Given the description of an element on the screen output the (x, y) to click on. 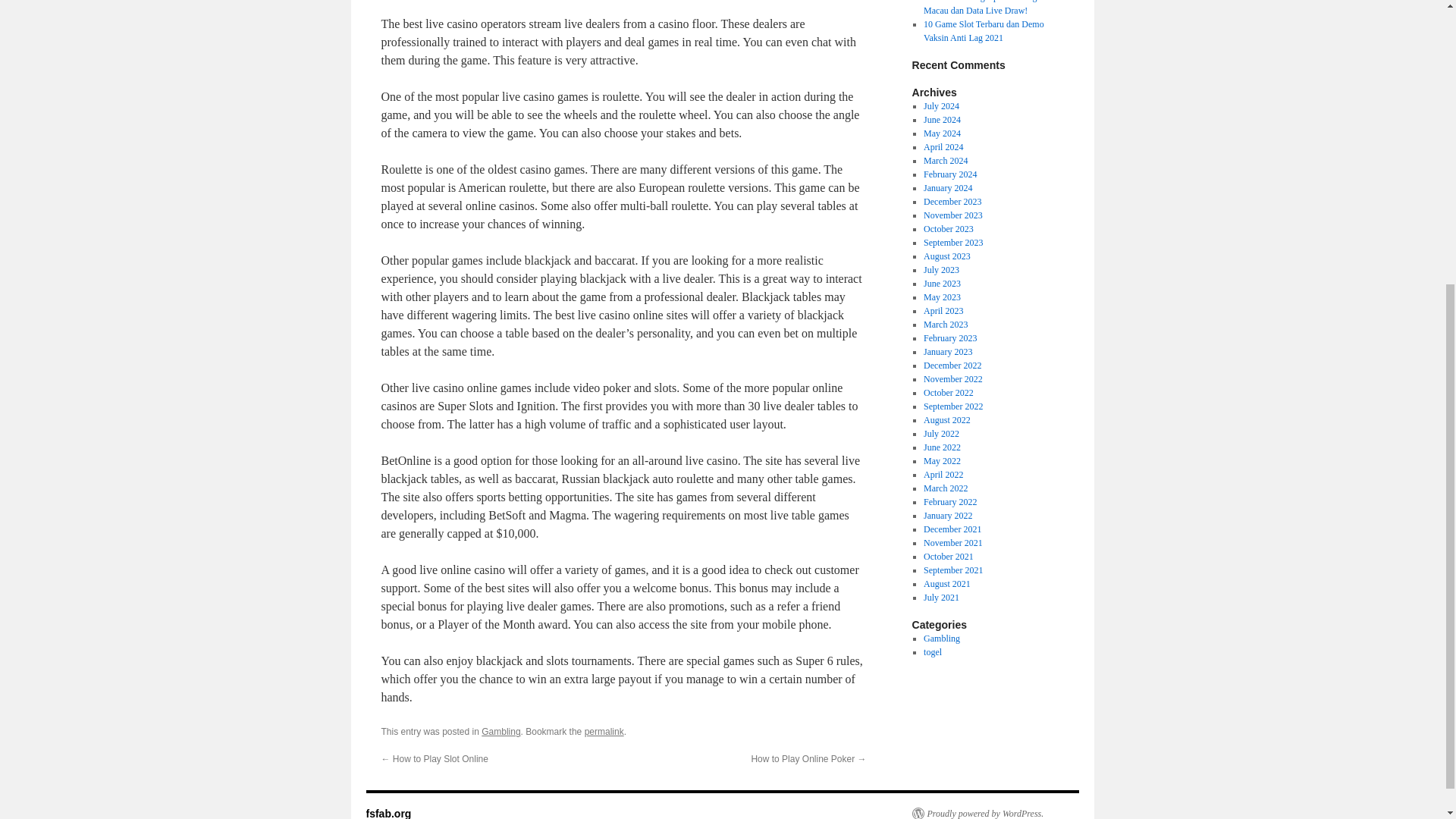
April 2024 (942, 146)
September 2023 (952, 242)
October 2023 (948, 228)
Permalink to Live Casino Online (604, 731)
March 2024 (945, 160)
December 2022 (952, 365)
May 2024 (941, 132)
July 2023 (941, 269)
March 2023 (945, 324)
10 Game Slot Terbaru dan Demo Vaksin Anti Lag 2021 (983, 30)
June 2024 (941, 119)
August 2023 (947, 255)
December 2023 (952, 201)
Gambling (500, 731)
May 2023 (941, 296)
